Given the description of an element on the screen output the (x, y) to click on. 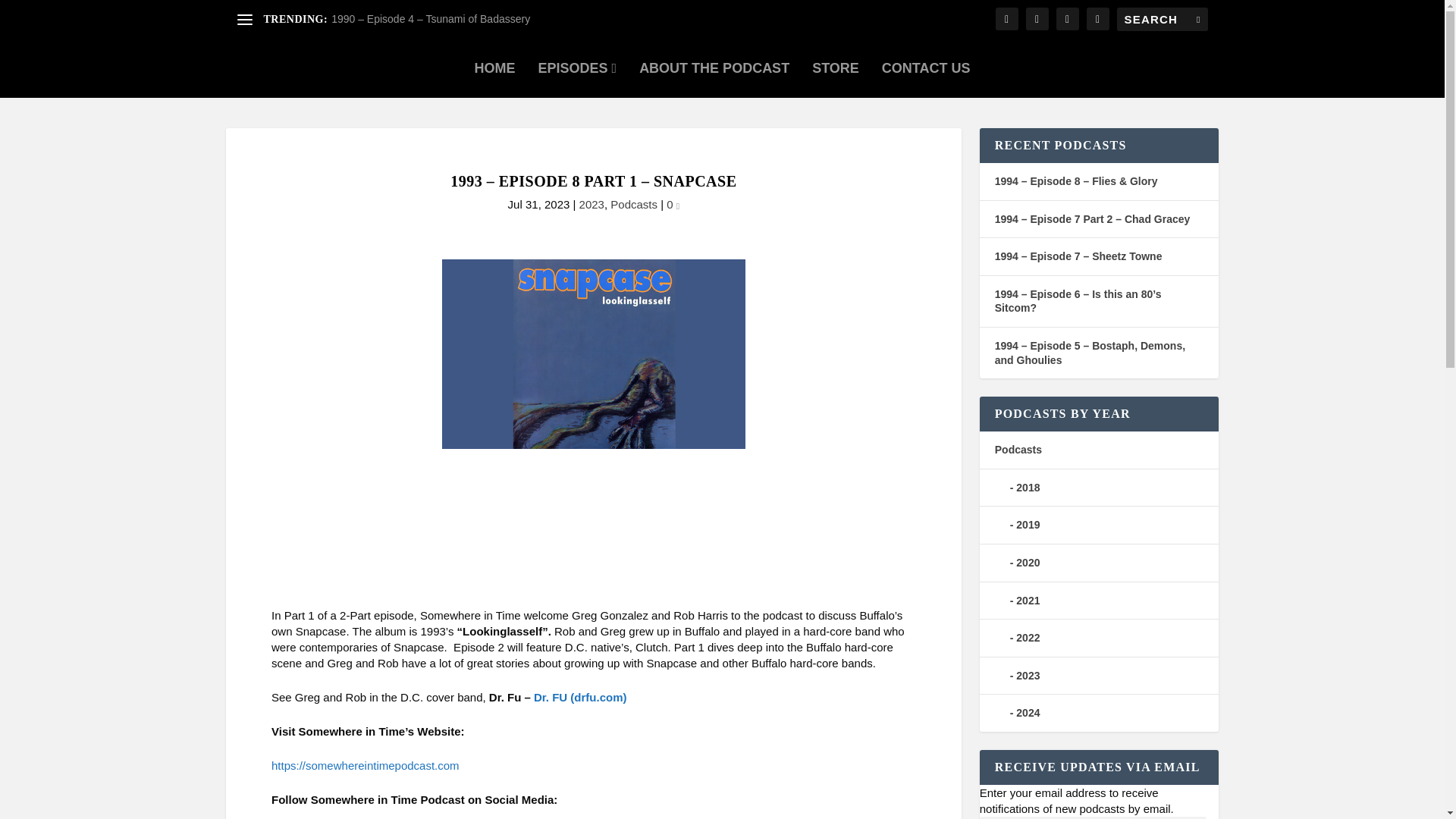
Podcasts (634, 204)
ABOUT THE PODCAST (714, 67)
Search for: (1161, 19)
1993 - Episode 8 Part 1 - Snapcase (592, 528)
EPISODES (577, 67)
CONTACT US (926, 67)
2023 (591, 204)
0 (672, 204)
